Given the description of an element on the screen output the (x, y) to click on. 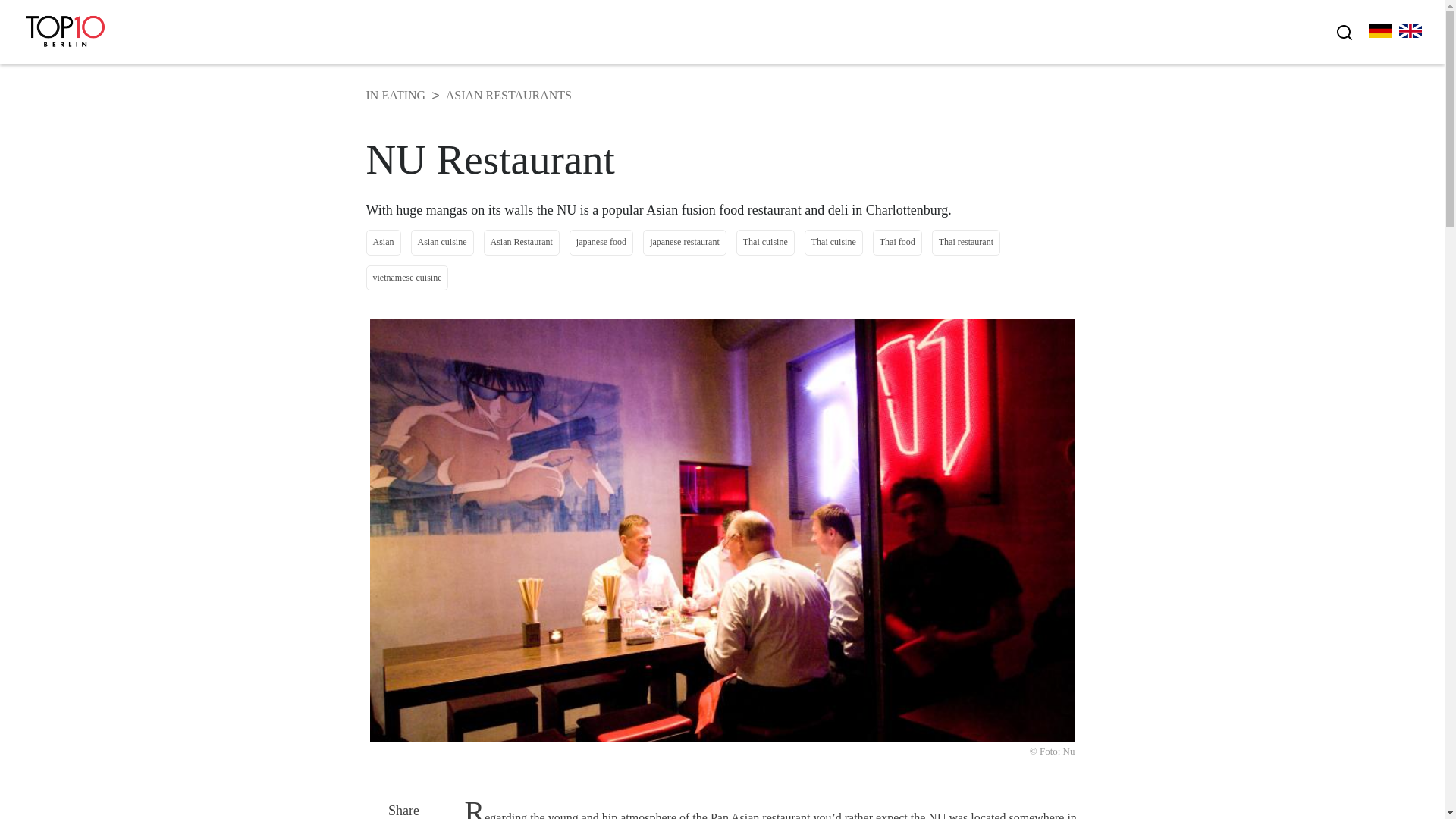
vietnamese cuisine (406, 277)
Thai cuisine (834, 242)
Asian Restaurant (521, 242)
Asian (382, 242)
ASIAN RESTAURANTS (508, 94)
IN EATING (395, 94)
Asian cuisine (442, 242)
japanese restaurant (684, 242)
japanese food (601, 242)
Thai cuisine (765, 242)
Thai restaurant (965, 242)
japanese food (601, 242)
Thai cuisine (765, 242)
japanese restaurant (684, 242)
Thai cuisine (834, 242)
